Given the description of an element on the screen output the (x, y) to click on. 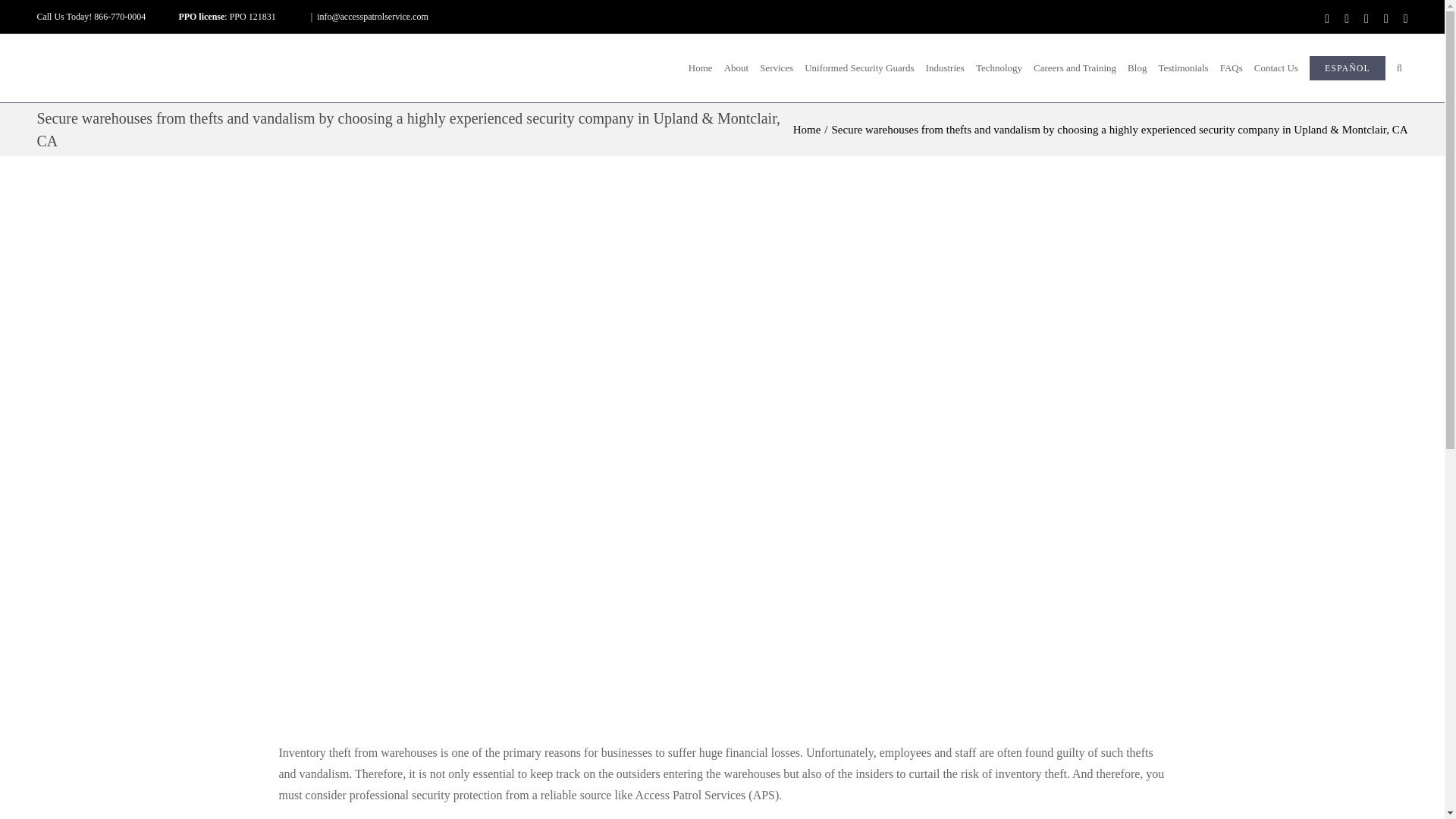
Technology (998, 68)
Uniformed Security Guards (859, 68)
Industries (944, 68)
Testimonials (1183, 68)
Contact Us (1275, 68)
Call Us Today! 866-770-0004 (90, 16)
Careers and Training (1074, 68)
